Given the description of an element on the screen output the (x, y) to click on. 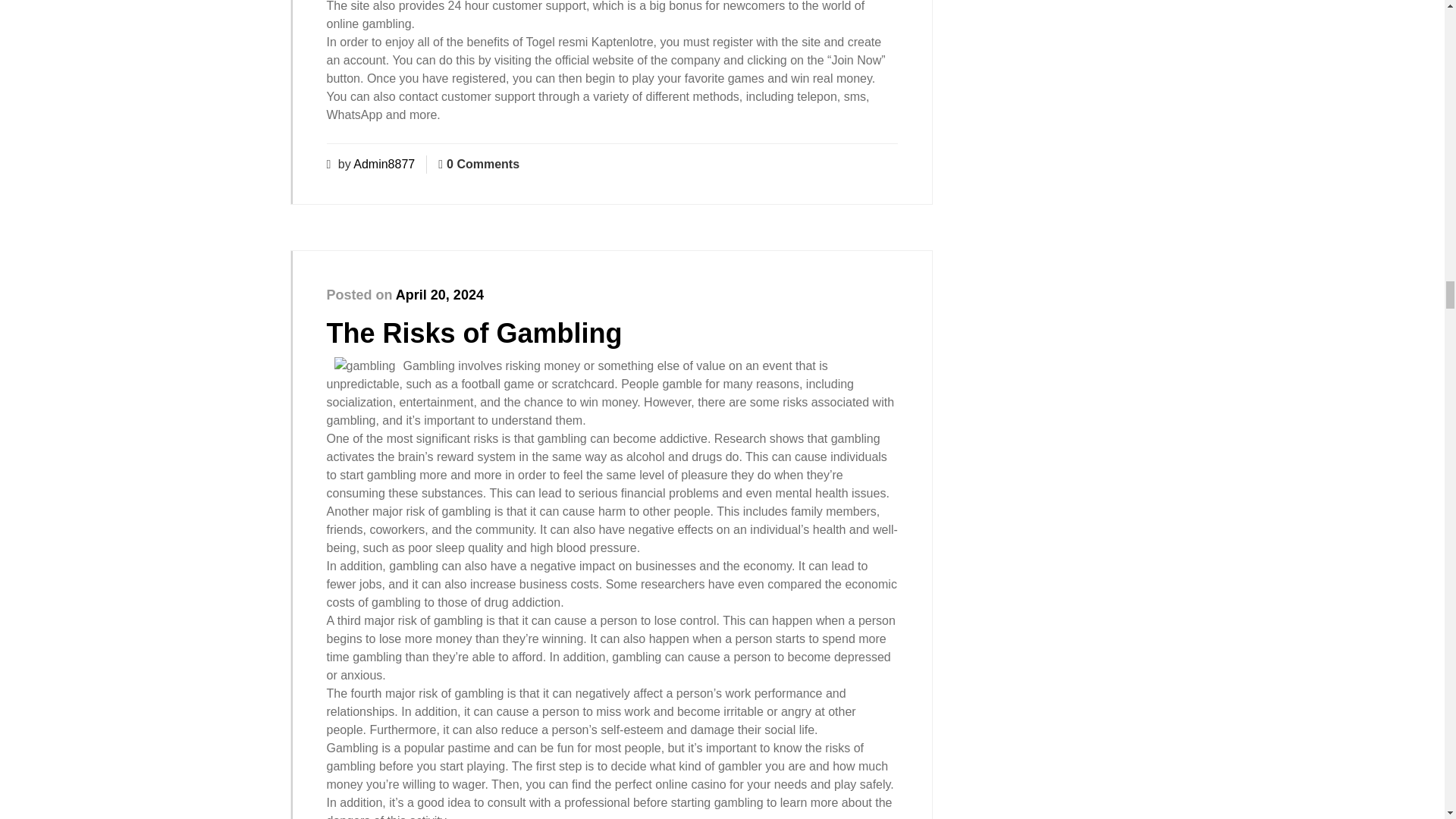
The Risks of Gambling (473, 332)
April 20, 2024 (439, 294)
Admin8877 (383, 164)
